Given the description of an element on the screen output the (x, y) to click on. 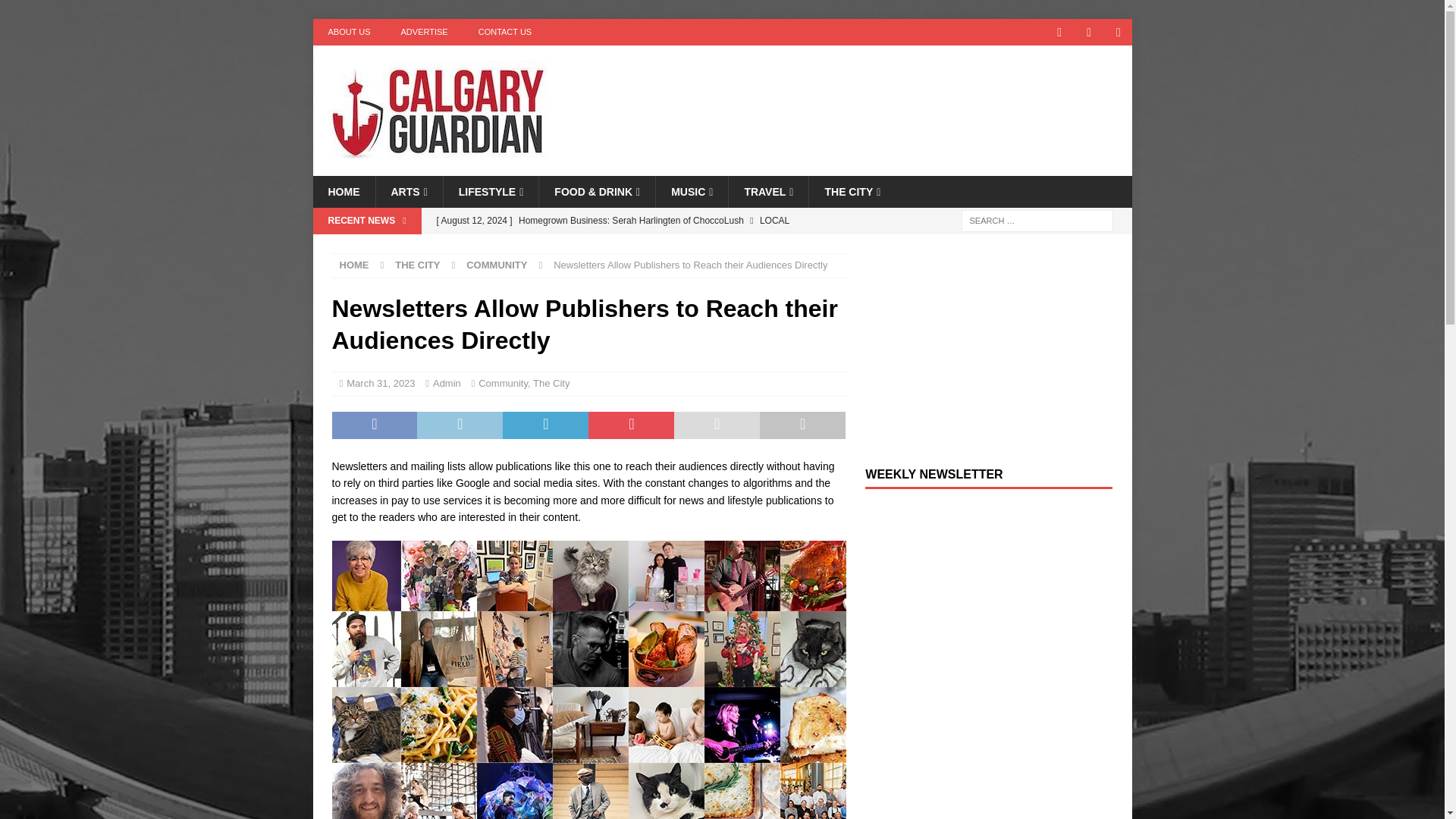
THE CITY (851, 192)
ARTS (408, 192)
Advertisement (868, 94)
ADVERTISE (424, 31)
HOME (343, 192)
ABOUT US (349, 31)
LIFESTYLE (490, 192)
TRAVEL (768, 192)
CONTACT US (505, 31)
Homegrown Business: Serah Harlingten of ChoccoLush (636, 233)
